Given the description of an element on the screen output the (x, y) to click on. 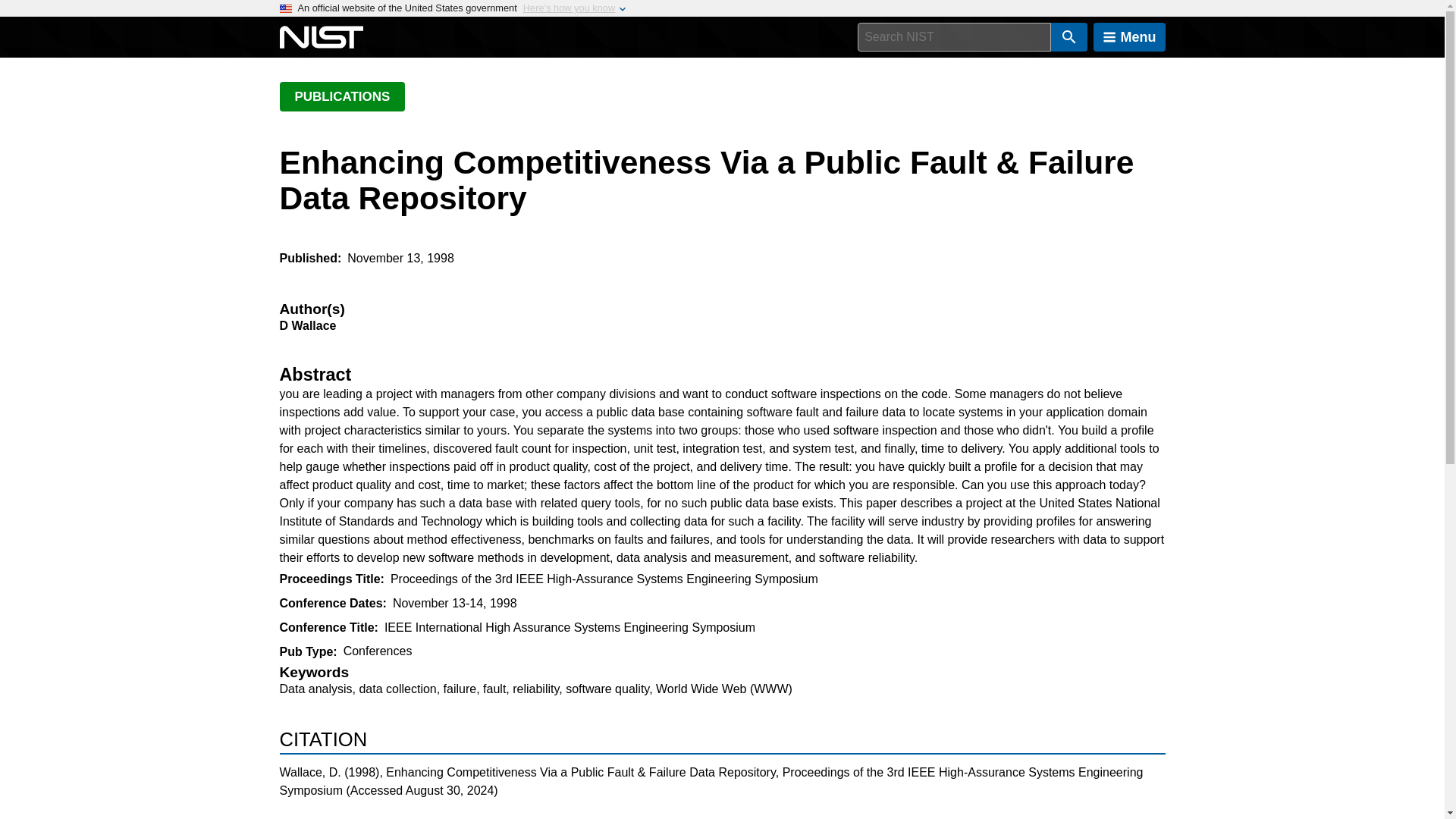
National Institute of Standards and Technology (320, 36)
Menu (1129, 36)
